Given the description of an element on the screen output the (x, y) to click on. 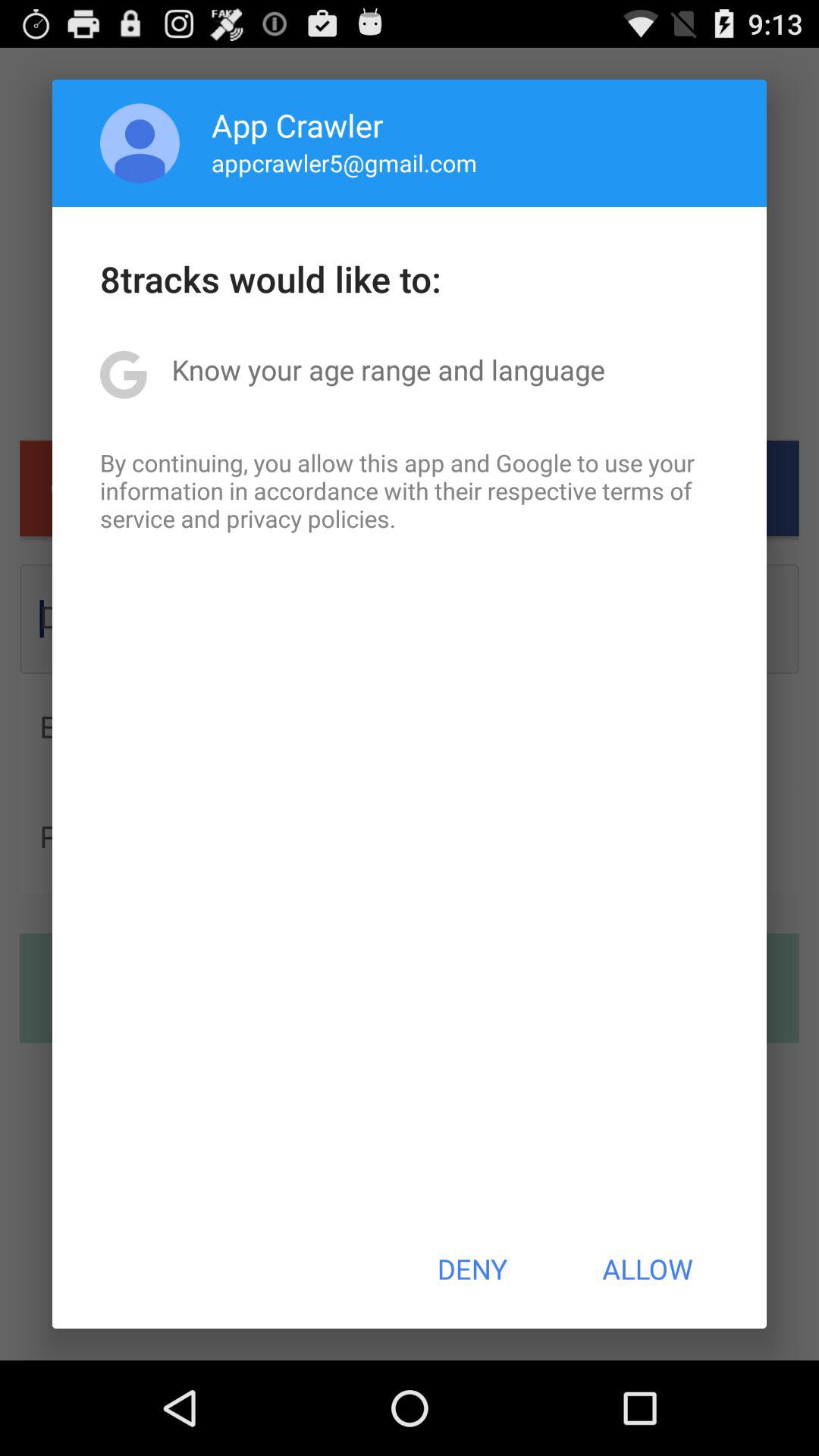
press the item to the left of allow icon (471, 1268)
